Given the description of an element on the screen output the (x, y) to click on. 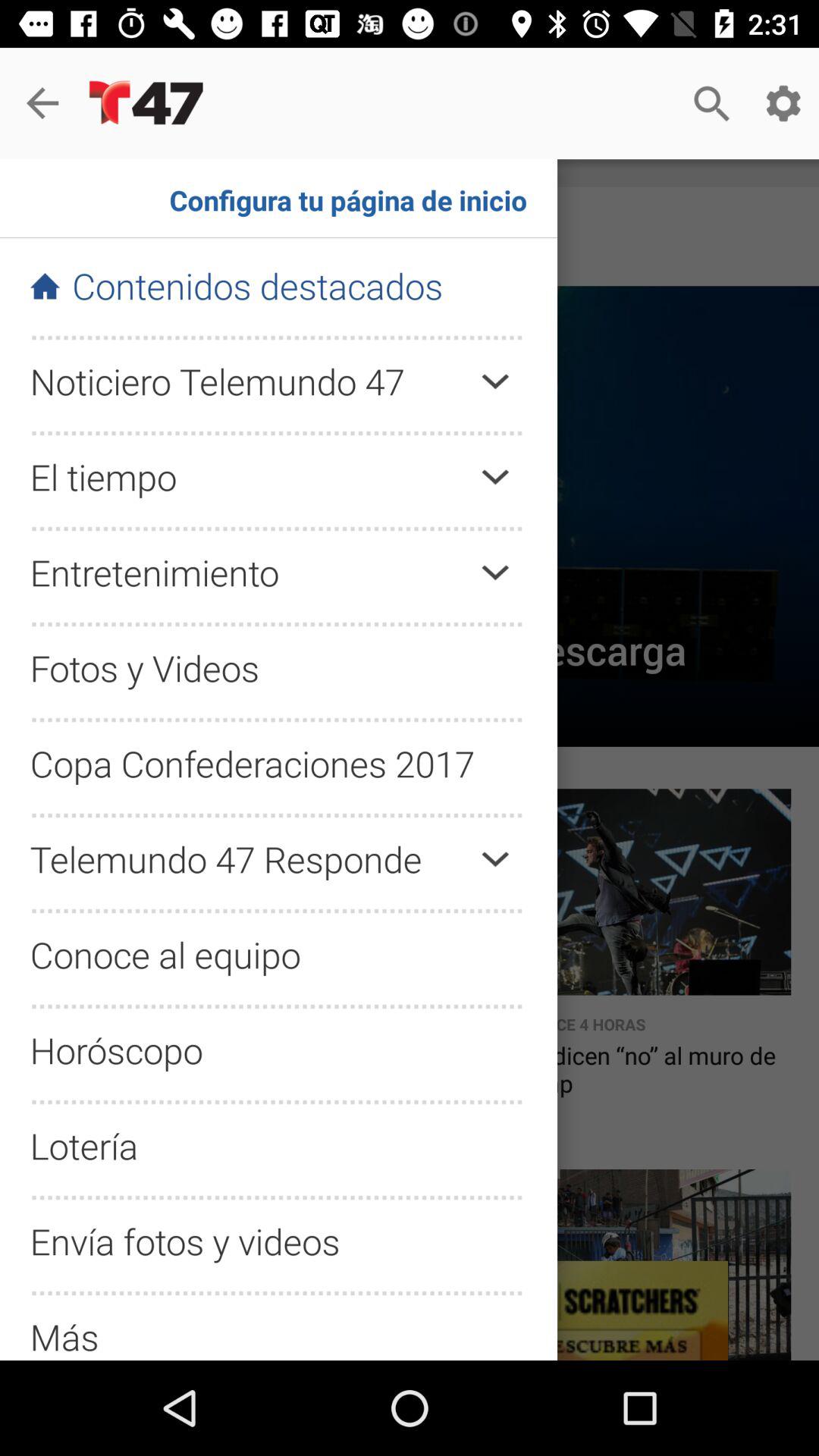
third drop down in web page (495, 572)
click on search button (711, 103)
